Given the description of an element on the screen output the (x, y) to click on. 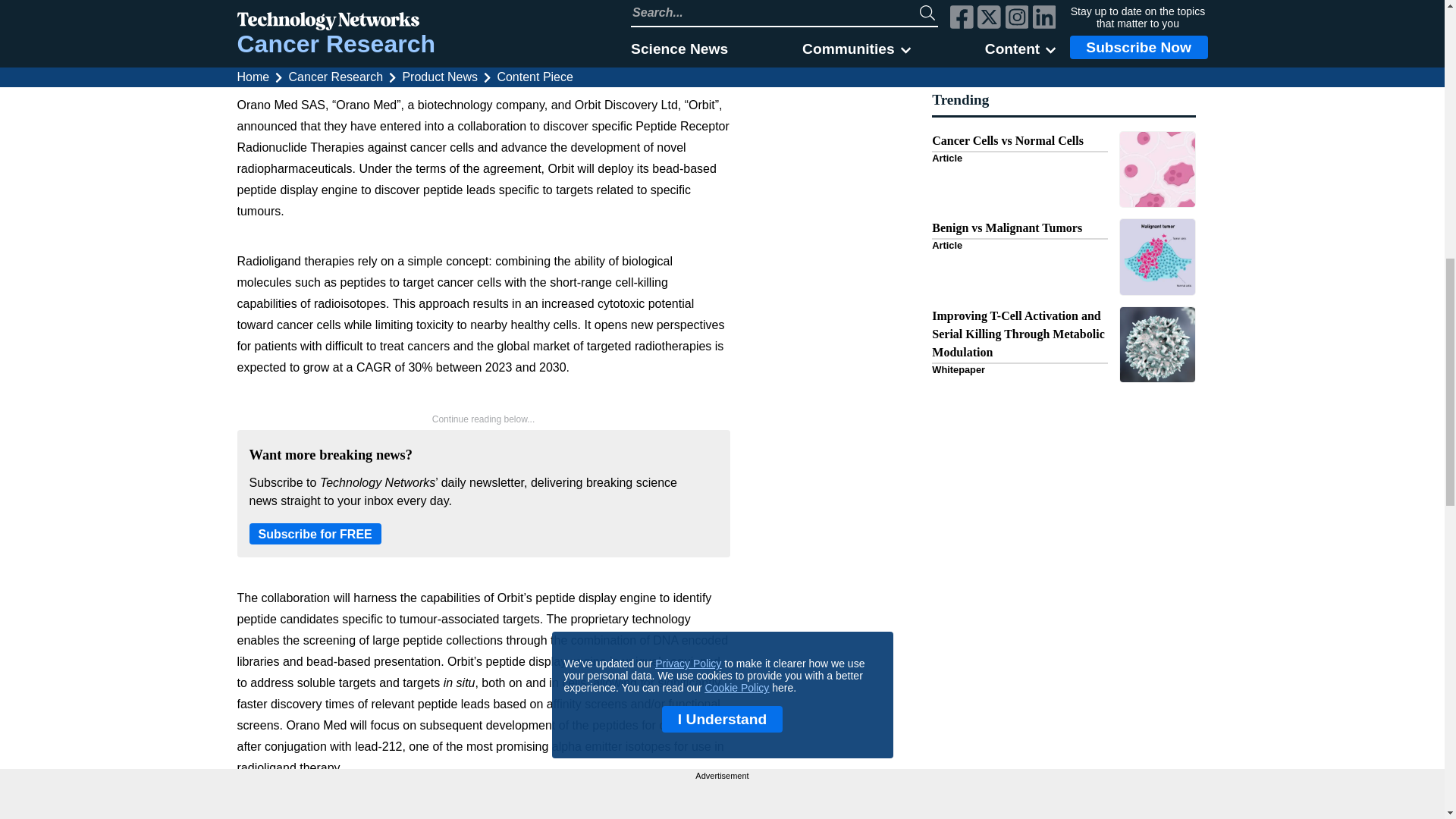
Click to view "Cancer Cells vs Normal Cells" (1063, 102)
Click to view "Benign vs Malignant Tumors" (1063, 189)
